Given the description of an element on the screen output the (x, y) to click on. 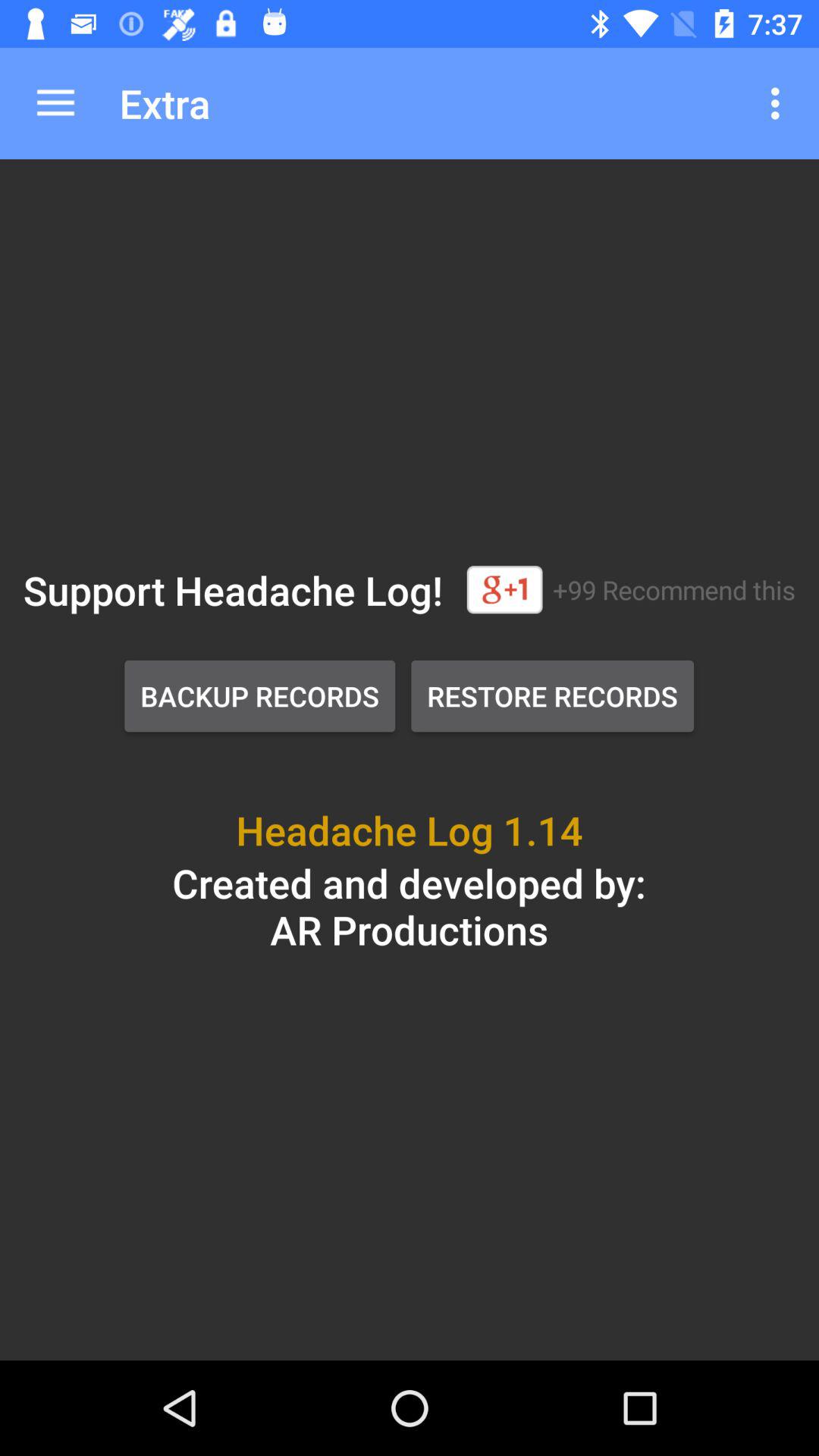
tap icon next to backup records (552, 695)
